Given the description of an element on the screen output the (x, y) to click on. 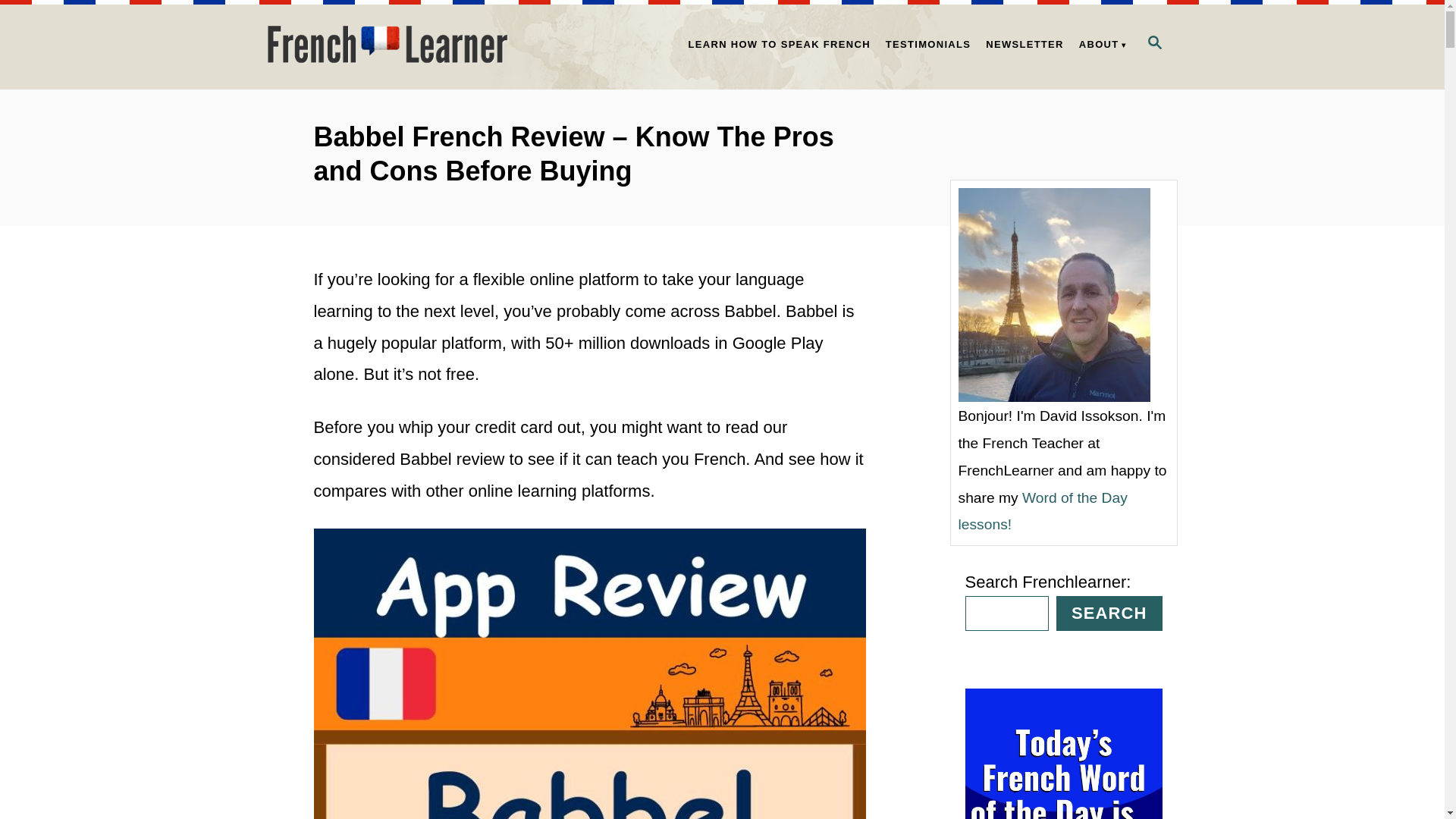
SEARCH (1153, 44)
NEWSLETTER (1024, 44)
ABOUT (1098, 44)
FrenchLearner.com (403, 44)
LEARN HOW TO SPEAK FRENCH (779, 44)
Word of the Day lessons! (1042, 511)
SEARCH (1109, 613)
TESTIMONIALS (927, 44)
